Given the description of an element on the screen output the (x, y) to click on. 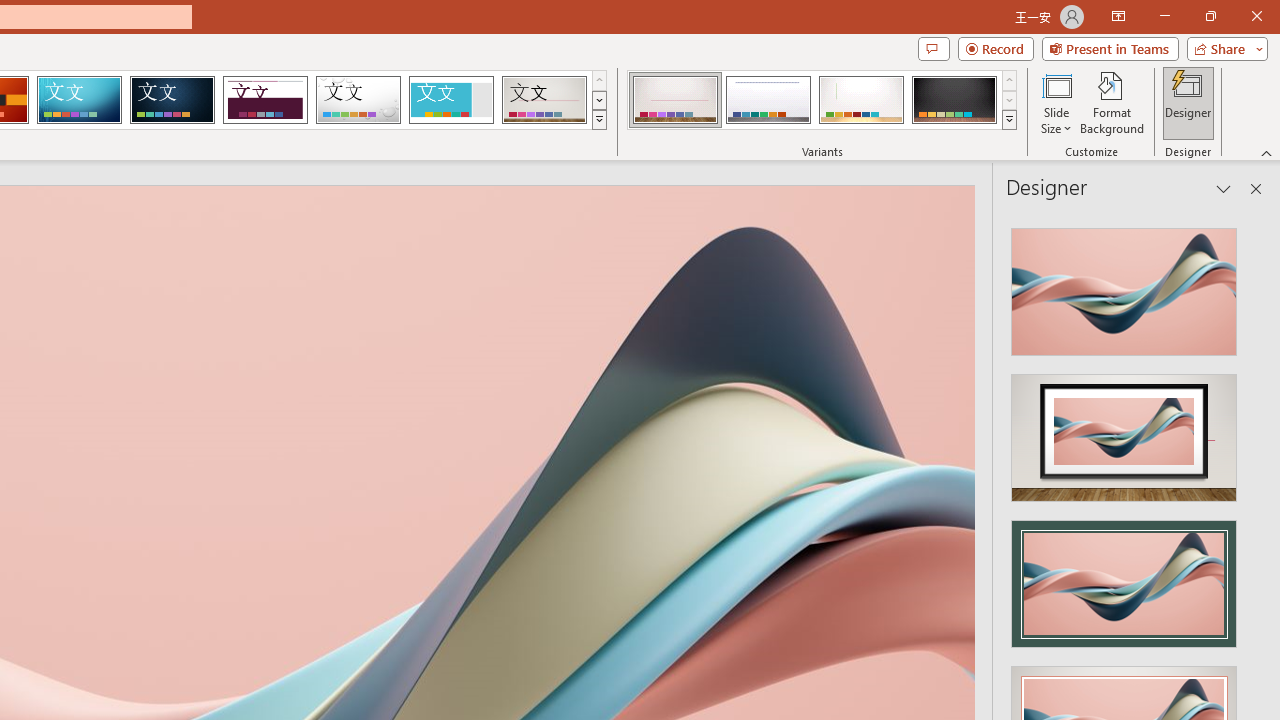
Droplet (358, 100)
AutomationID: ThemeVariantsGallery (822, 99)
Themes (598, 120)
Frame (450, 100)
Gallery Variant 3 (861, 100)
Dividend (265, 100)
Gallery Variant 2 (768, 100)
